Given the description of an element on the screen output the (x, y) to click on. 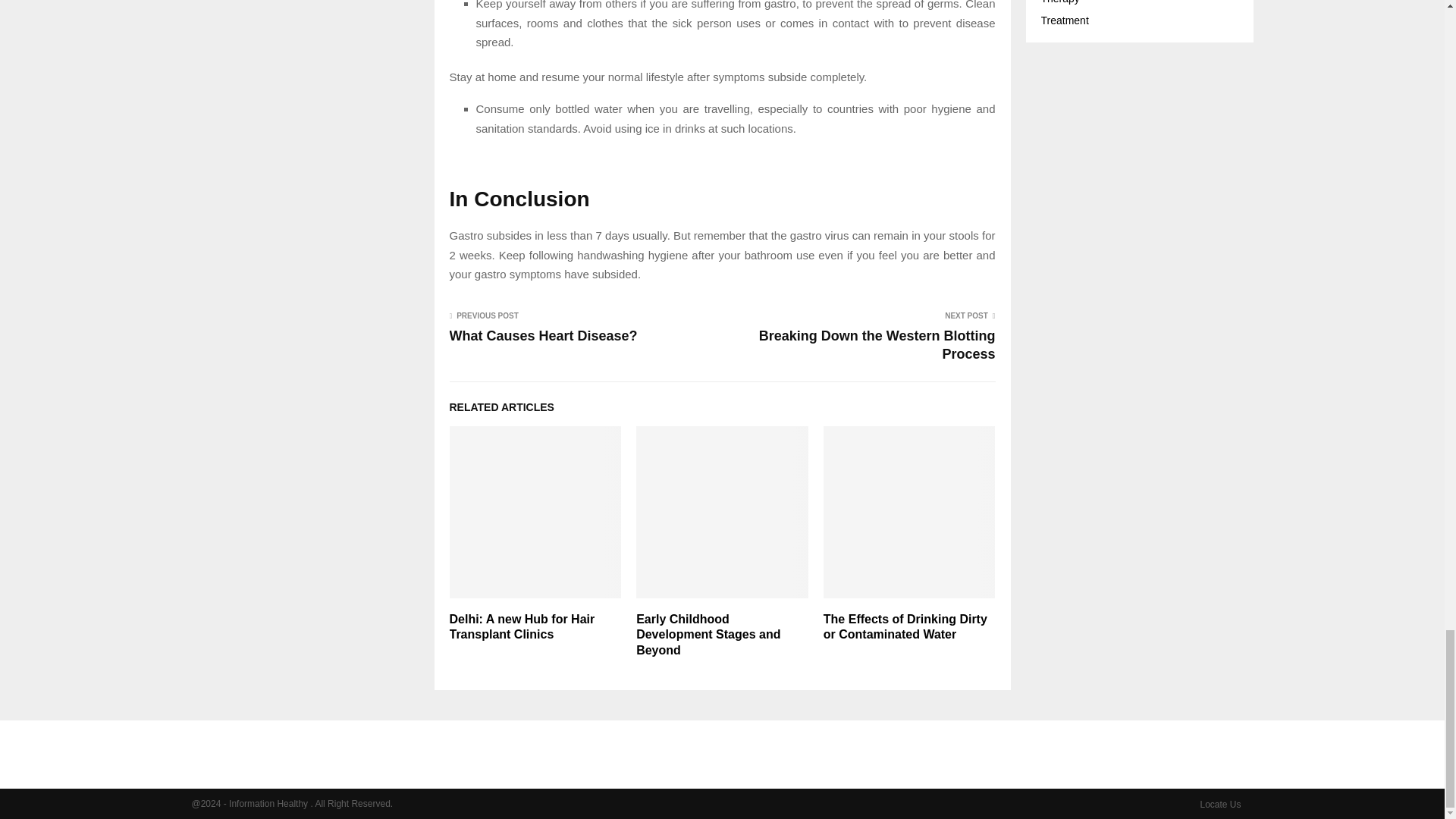
What Causes Heart Disease? (542, 335)
The Effects of Drinking Dirty or Contaminated Water (905, 626)
Delhi: A new Hub for Hair Transplant Clinics (521, 626)
Early Childhood Development Stages and Beyond (708, 634)
Breaking Down the Western Blotting Process (876, 344)
